Given the description of an element on the screen output the (x, y) to click on. 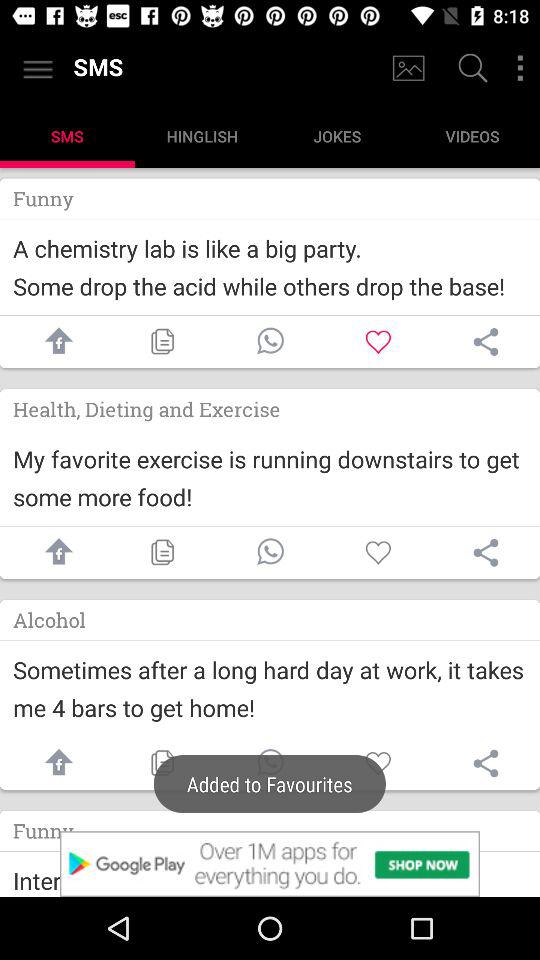
call them (270, 552)
